Given the description of an element on the screen output the (x, y) to click on. 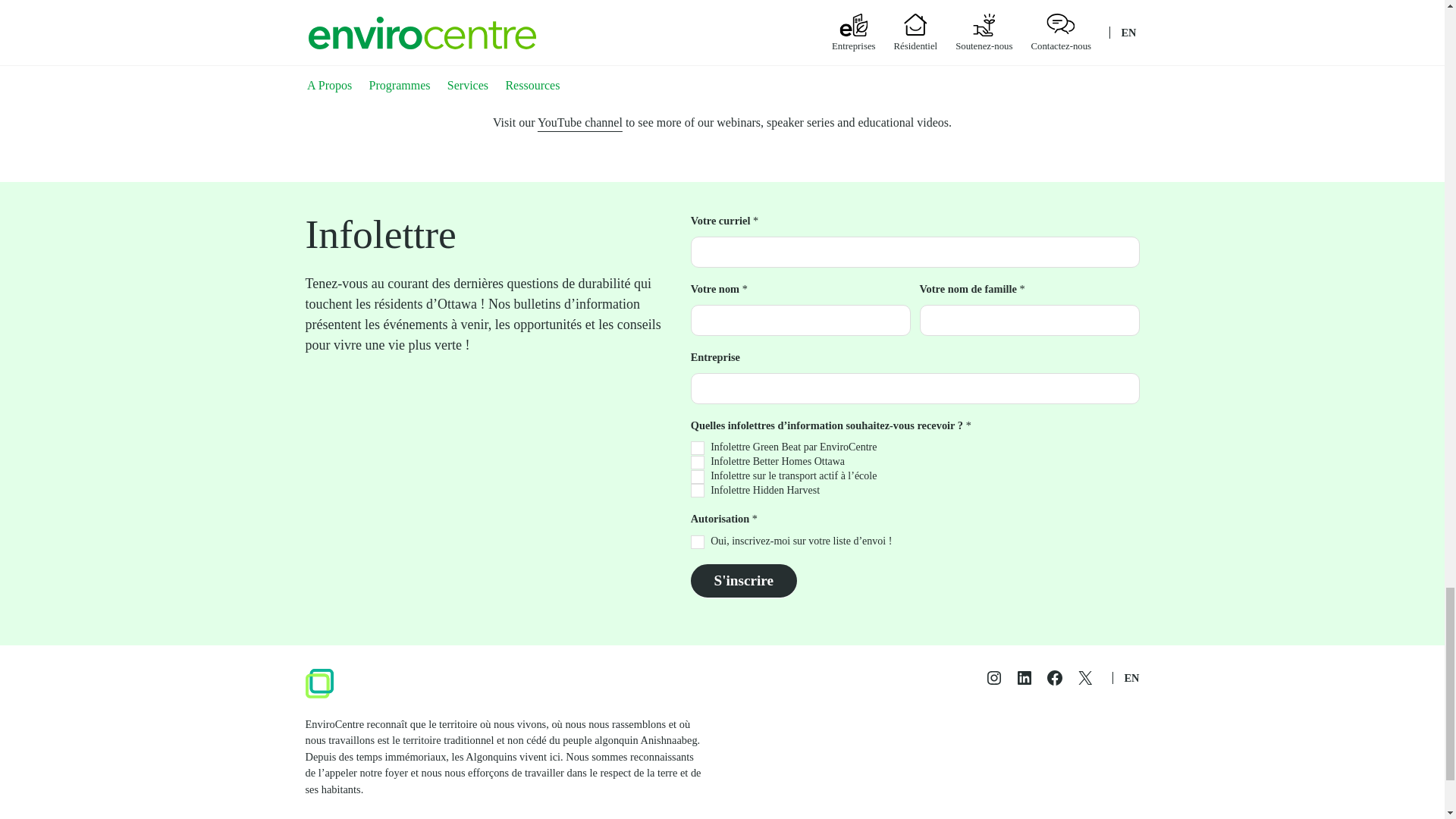
Neighbourhood Retrofit Round-Up (906, 30)
Weekly Green Beat from EnviroCentre (697, 448)
Hidden Harvest Newsletter (697, 490)
School Active Transportation Newsletter (697, 477)
Better Homes Ottawa Newsletter (697, 462)
Yes, put me on your mailing list! (697, 541)
